Given the description of an element on the screen output the (x, y) to click on. 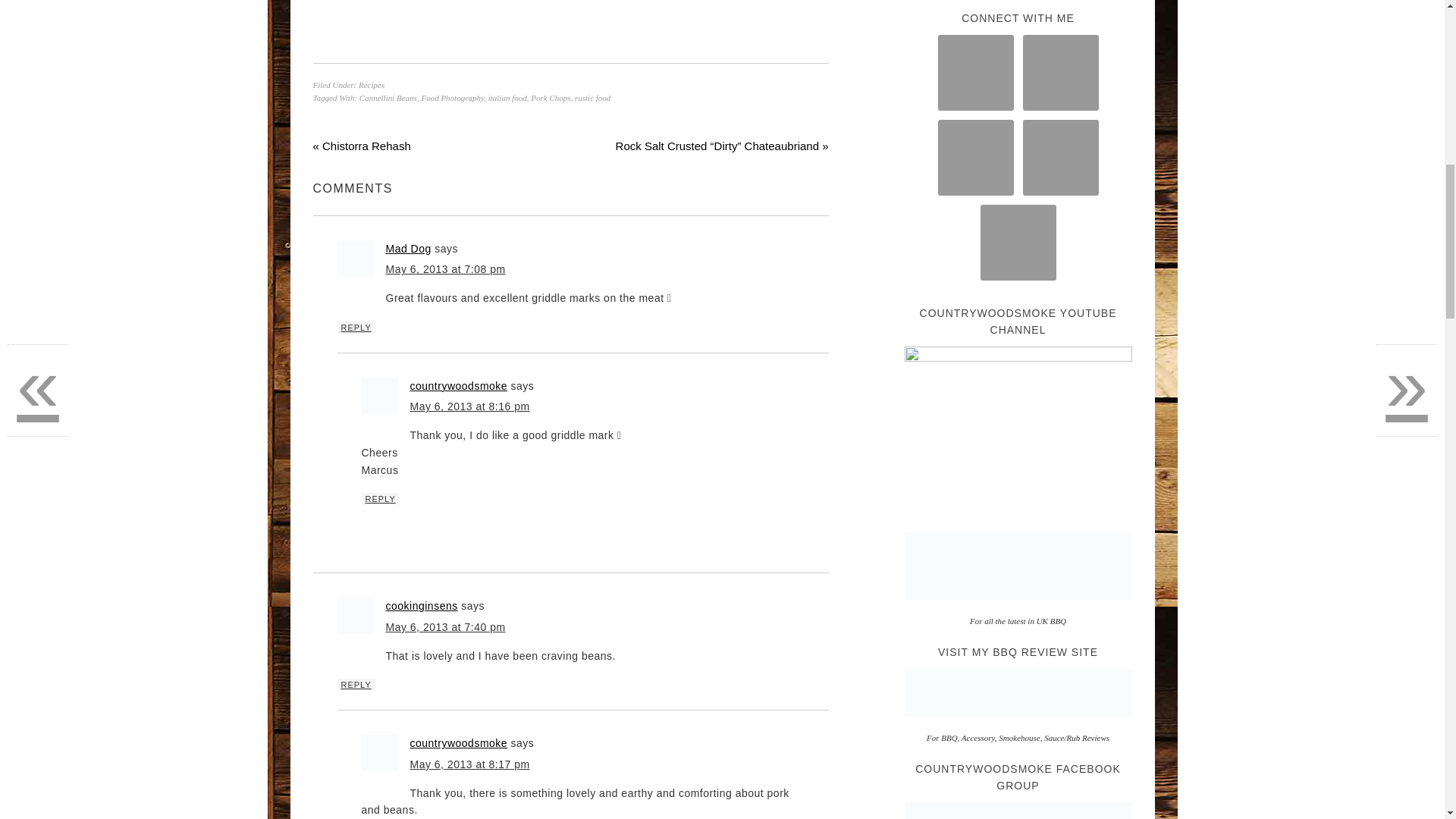
Food Photography (451, 97)
May 6, 2013 at 8:16 pm (469, 406)
May 6, 2013 at 8:17 pm (469, 764)
cookinginsens (421, 605)
italian food (507, 97)
Cannellini Beans (387, 97)
REPLY (355, 684)
Mad Dog (407, 248)
Recipes (371, 84)
rustic food (592, 97)
